Given the description of an element on the screen output the (x, y) to click on. 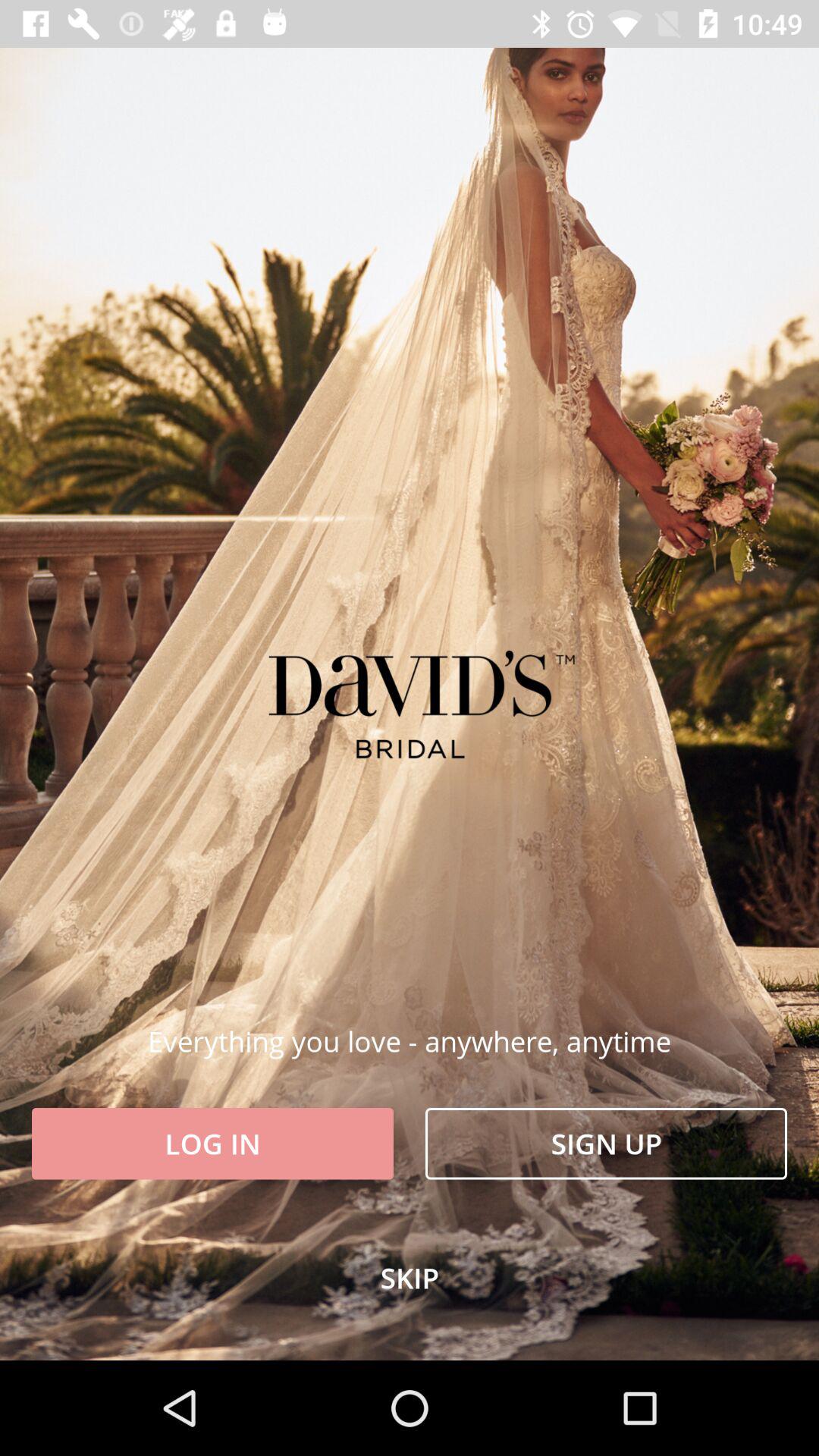
click item to the right of the log in icon (606, 1143)
